Given the description of an element on the screen output the (x, y) to click on. 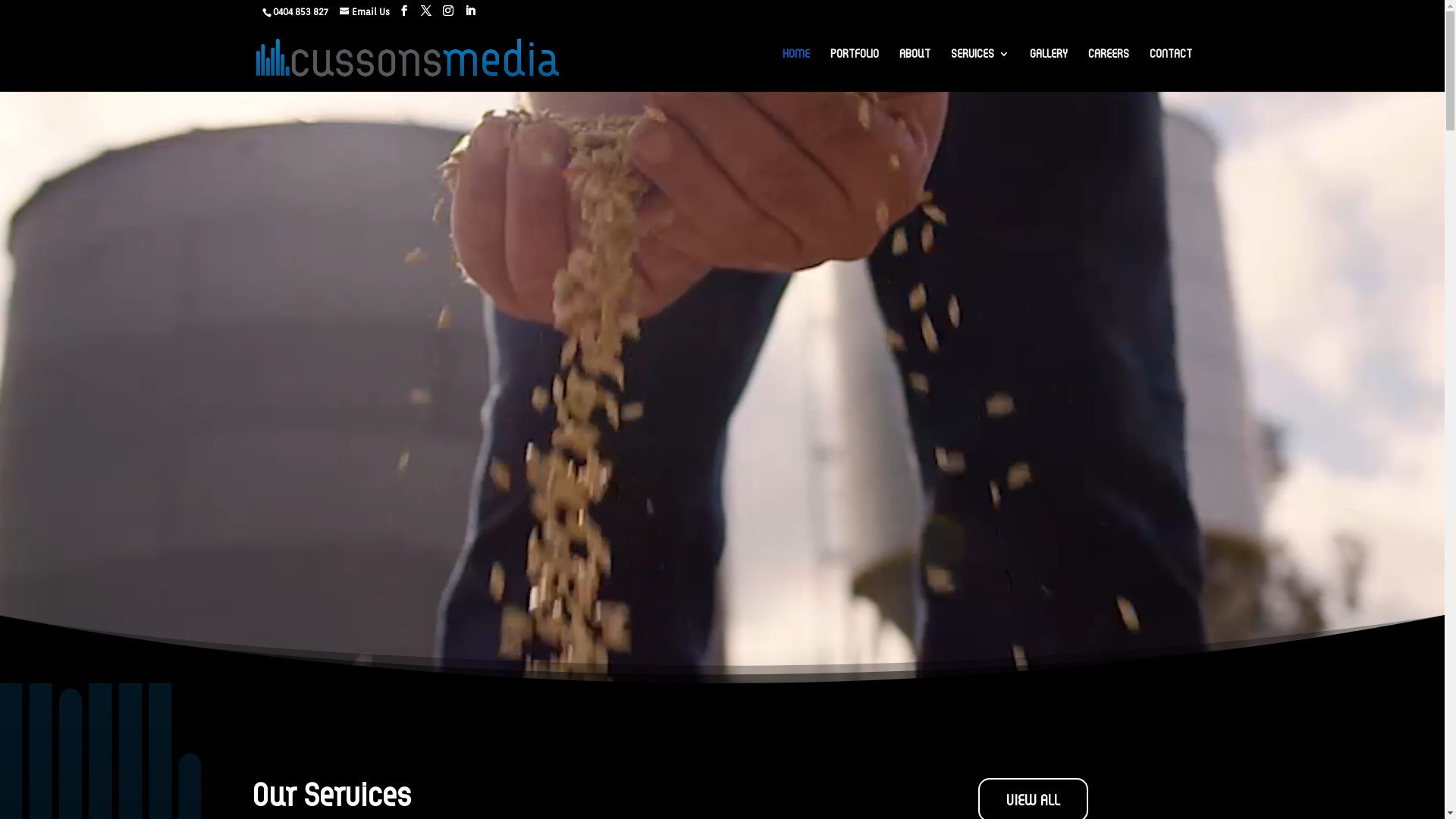
Email Us Element type: text (364, 11)
HOME Element type: text (795, 66)
ABOUT Element type: text (914, 66)
SERVICES Element type: text (979, 66)
CONTACT Element type: text (1170, 66)
0404 853 827 Element type: text (294, 11)
GALLERY Element type: text (1048, 66)
PORTFOLIO Element type: text (854, 66)
CAREERS Element type: text (1108, 66)
